Given the description of an element on the screen output the (x, y) to click on. 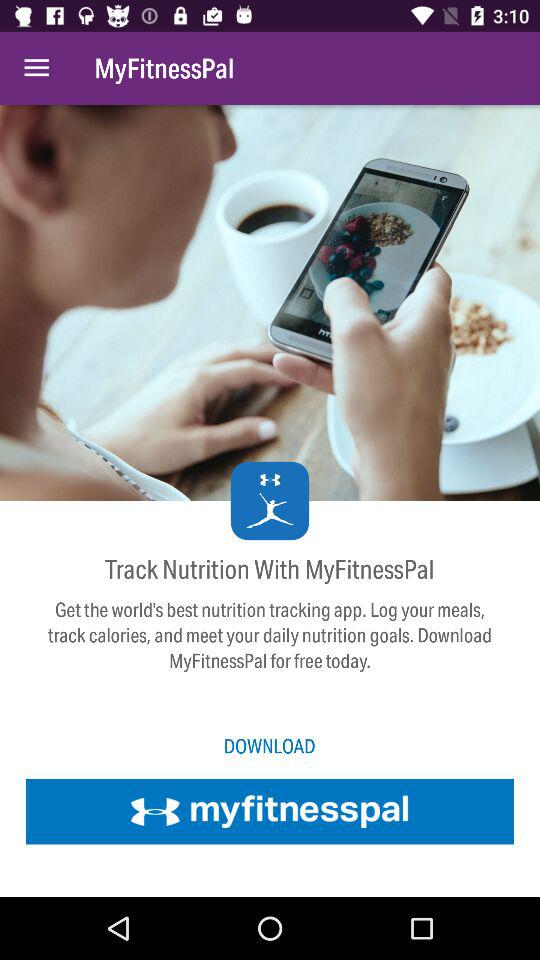
myfitnesspal banner (269, 811)
